Given the description of an element on the screen output the (x, y) to click on. 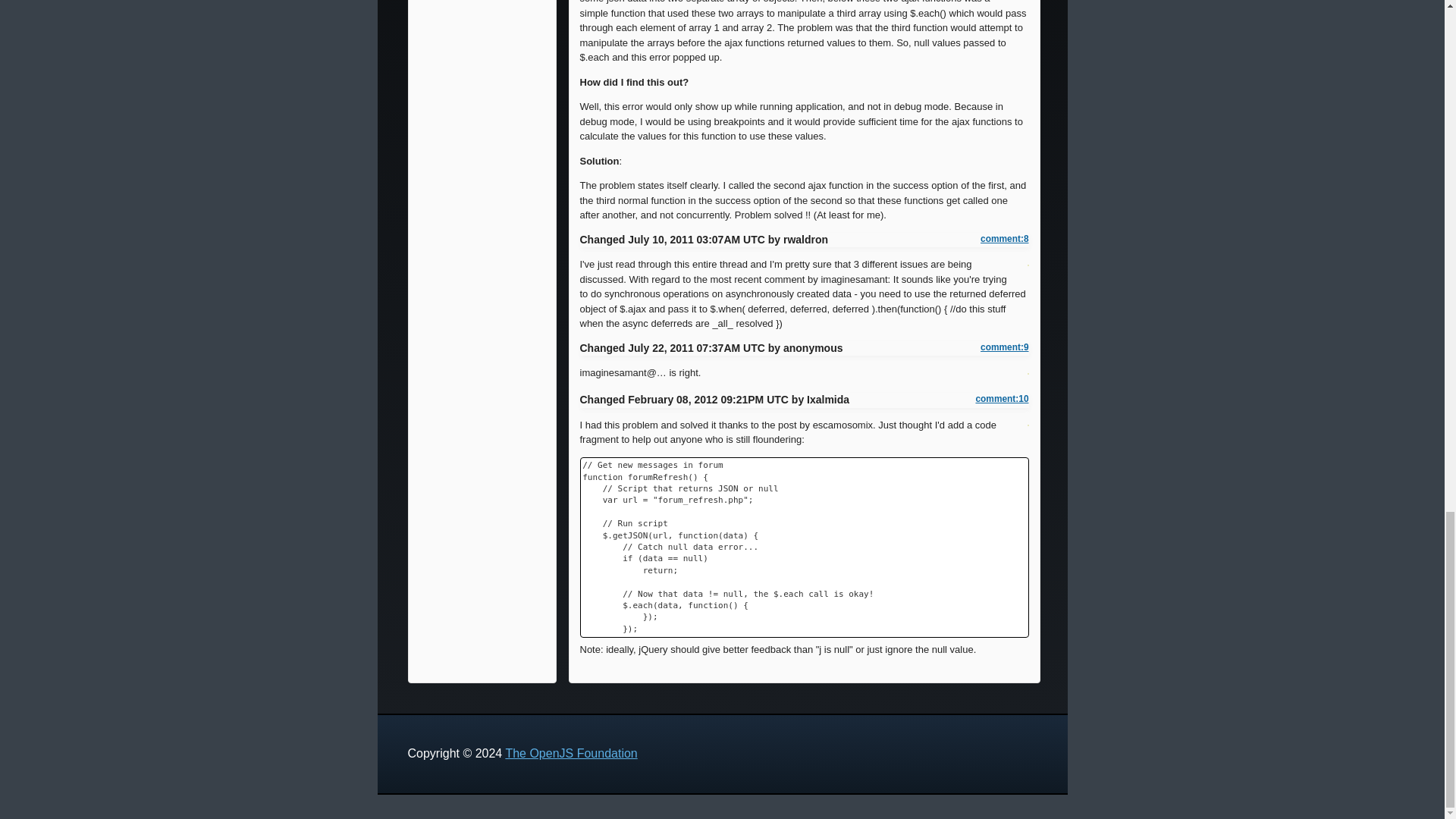
comment:9 (1003, 347)
comment:8 (1003, 238)
comment:10 (1001, 399)
